Given the description of an element on the screen output the (x, y) to click on. 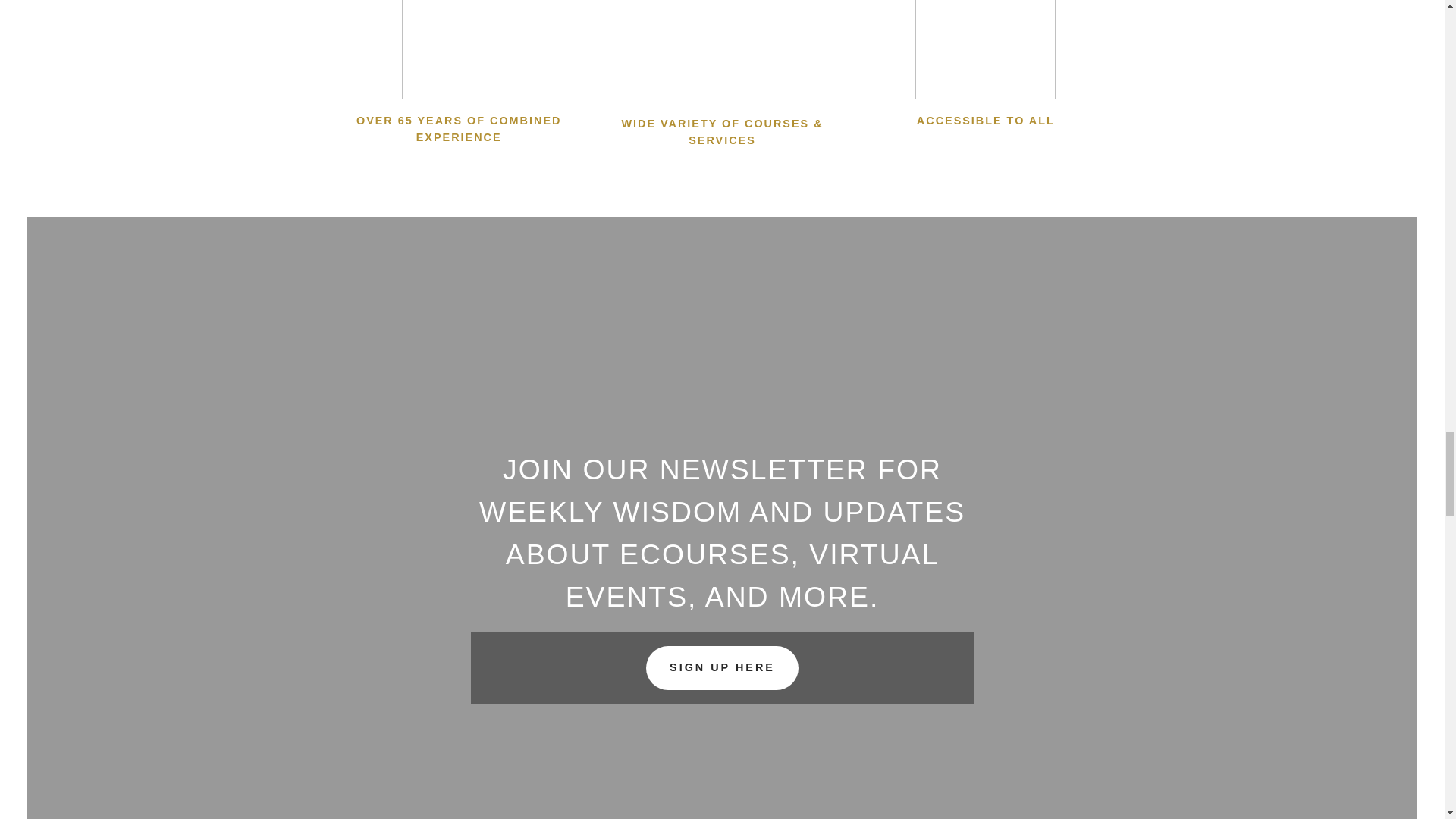
OVER 65 YEARS OF COMBINED EXPERIENCE (458, 72)
SIGN UP HERE (722, 667)
ACCESSIBLE TO ALL (985, 64)
